Given the description of an element on the screen output the (x, y) to click on. 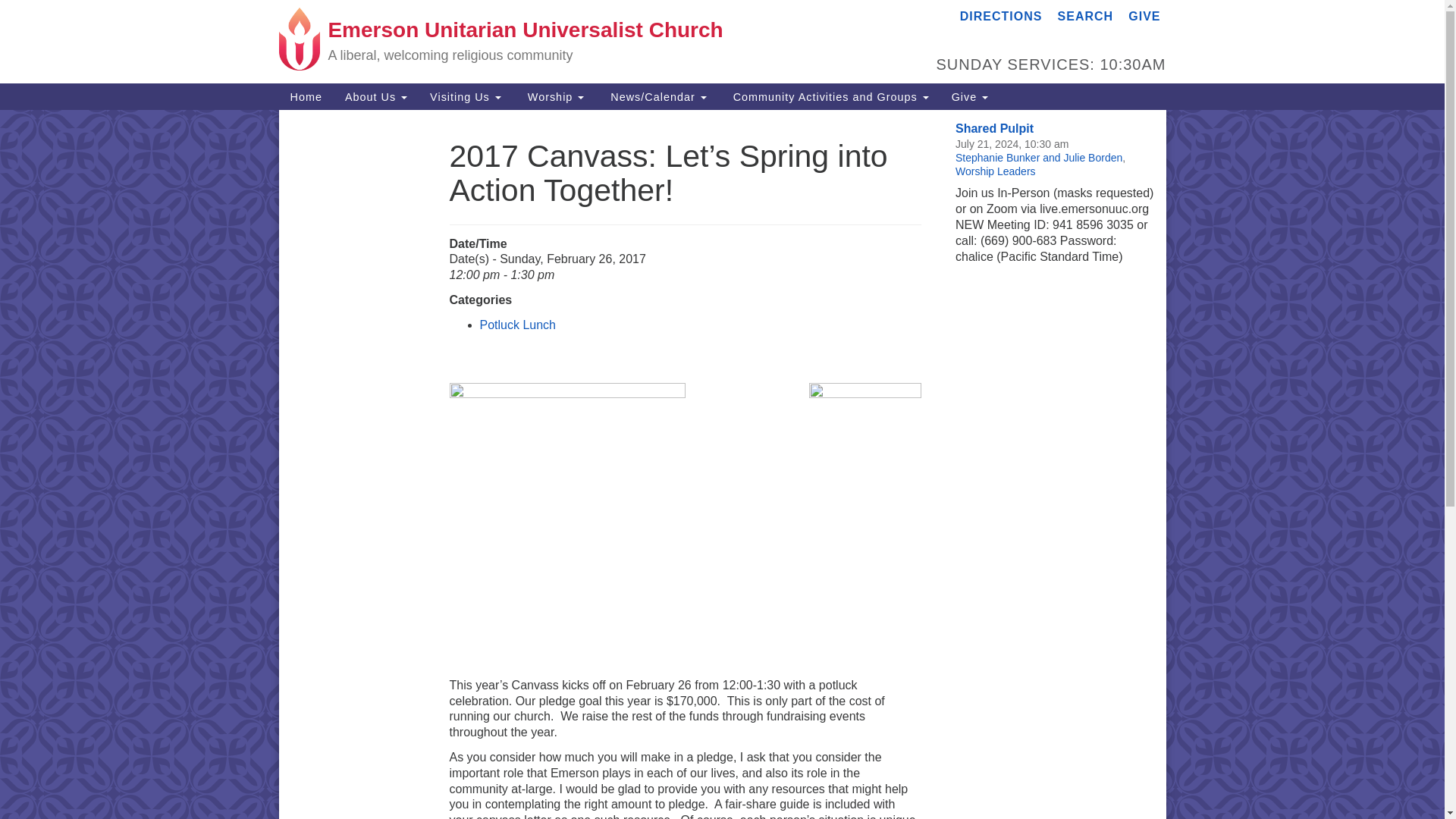
SEARCH (1085, 16)
GIVE (1144, 16)
Home (306, 96)
About Us (376, 96)
Home (306, 96)
 Worship (553, 96)
Visiting Us (465, 96)
About Us (376, 96)
DIRECTIONS (1001, 16)
